Given the description of an element on the screen output the (x, y) to click on. 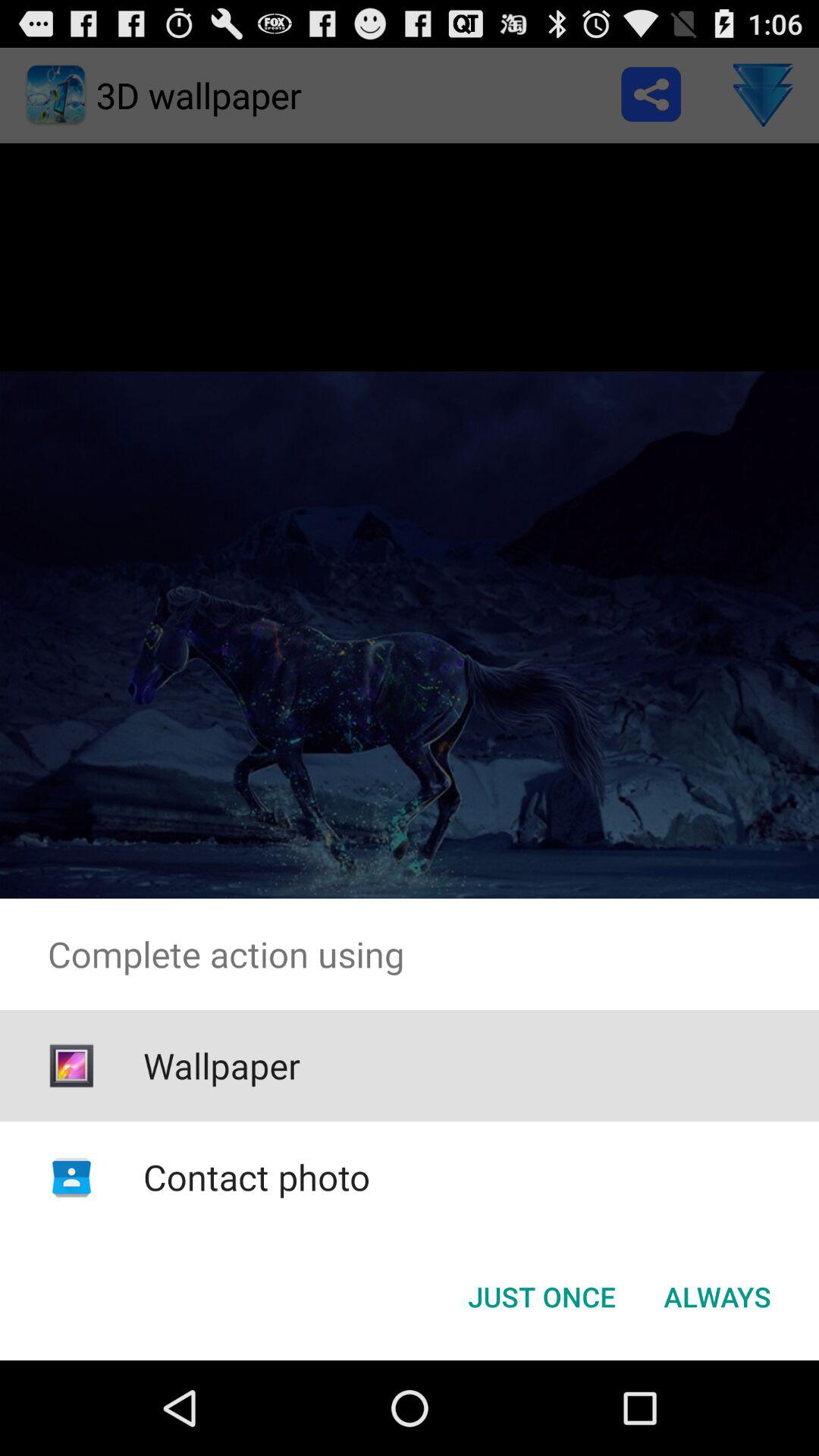
tap just once button (541, 1296)
